Given the description of an element on the screen output the (x, y) to click on. 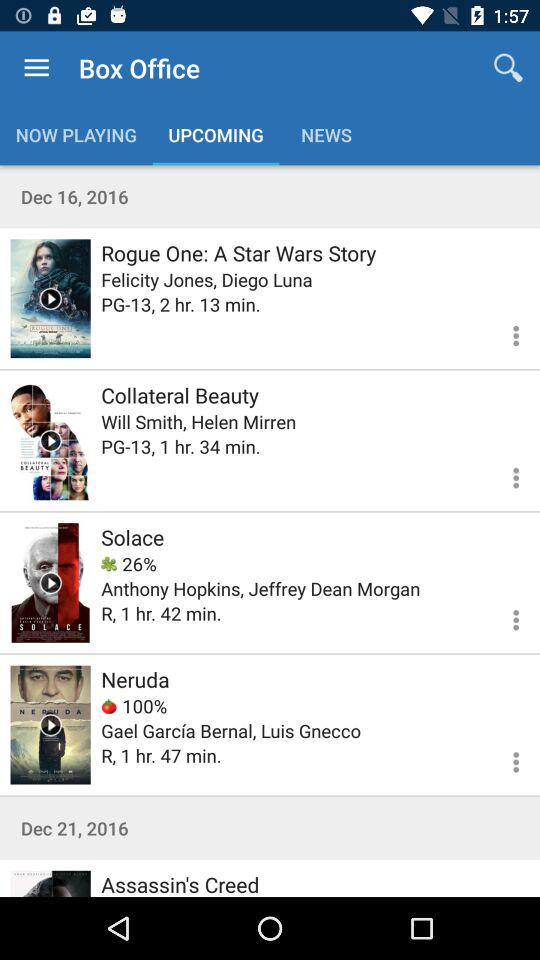
play movie (50, 883)
